Given the description of an element on the screen output the (x, y) to click on. 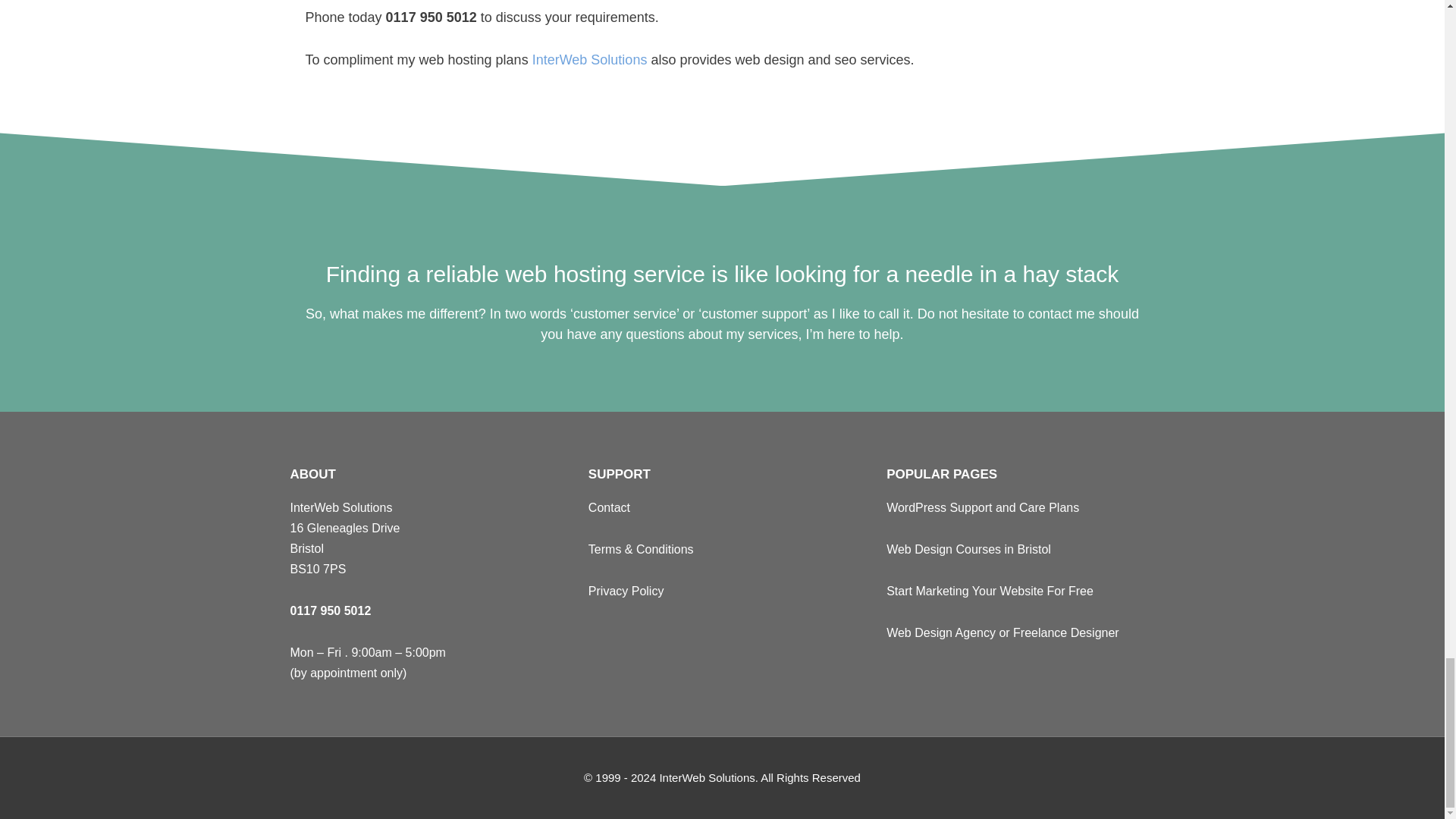
Start Marketing Your Website For Free (989, 590)
WordPress Support and Care Plans (982, 507)
Web Design Courses in Bristol (968, 549)
Web Design Agency or Freelance Designer (1002, 632)
InterWeb Solutions (589, 59)
Privacy Policy (625, 590)
Contact (609, 507)
